Given the description of an element on the screen output the (x, y) to click on. 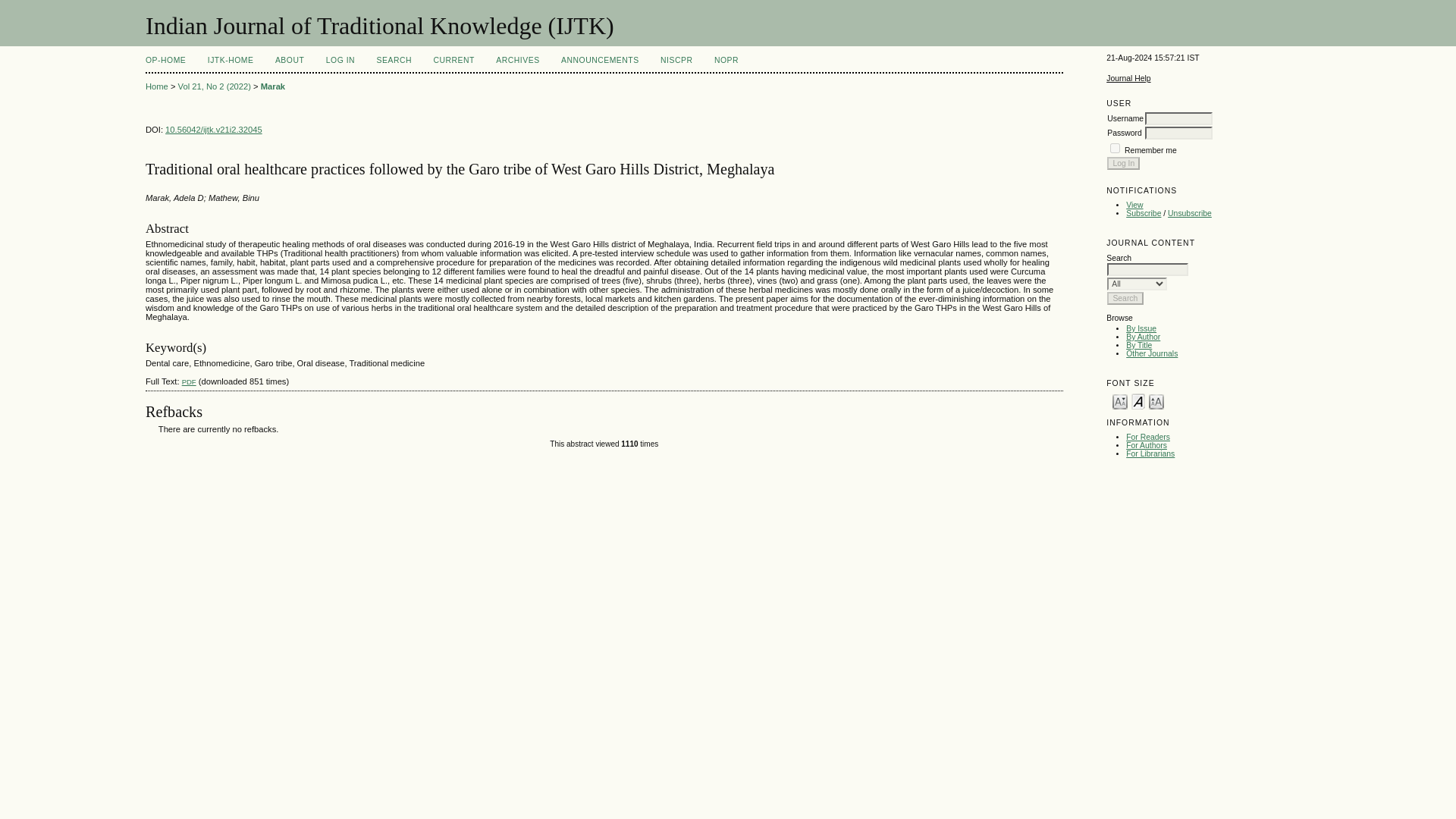
ARCHIVES (517, 60)
Log In (1123, 163)
For Readers (1147, 437)
By Title (1138, 345)
By Author (1142, 336)
ABOUT (289, 60)
NISCPR (677, 60)
CURRENT (453, 60)
IJTK-HOME (230, 60)
By Issue (1140, 328)
